Given the description of an element on the screen output the (x, y) to click on. 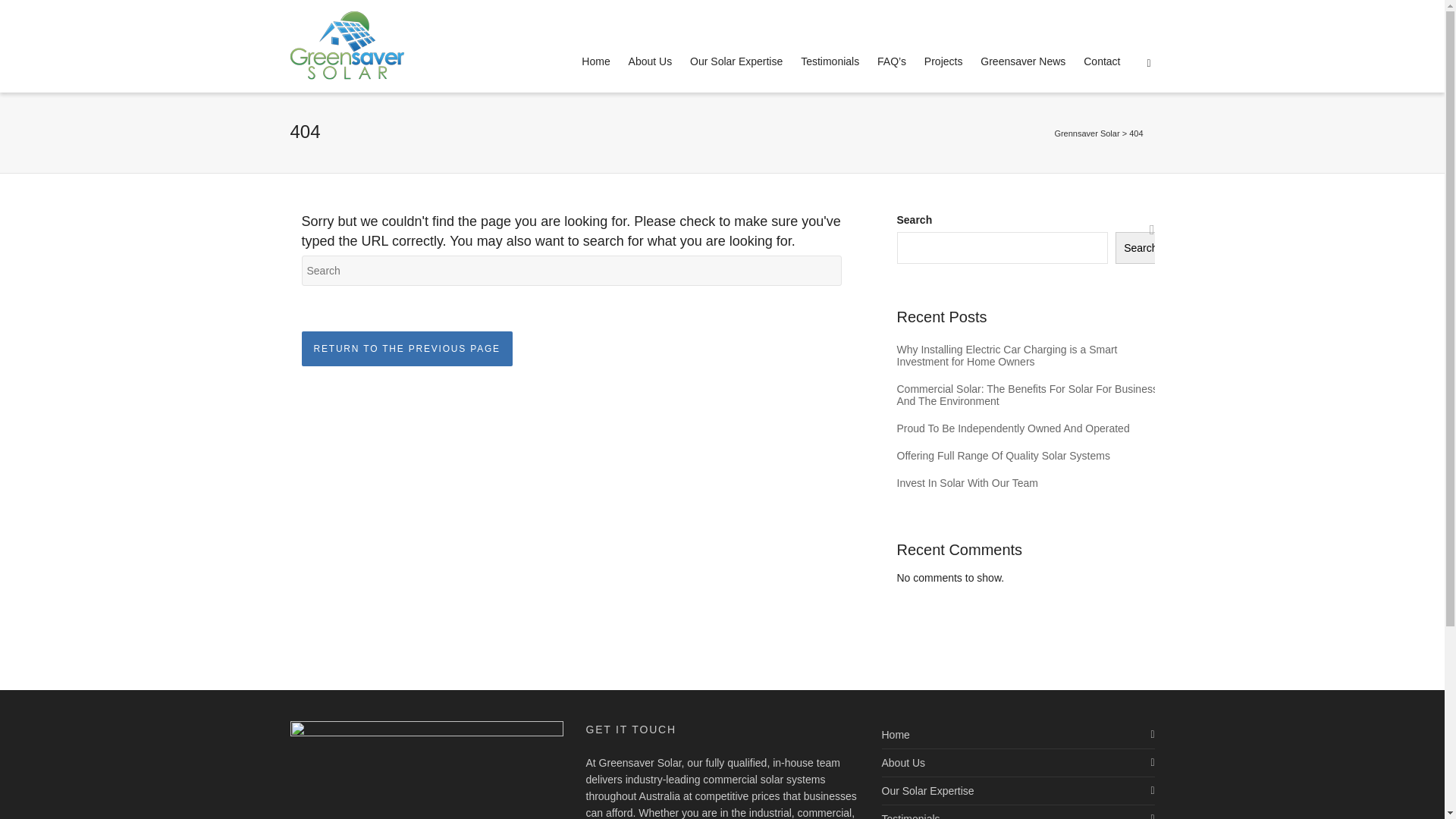
Invest In Solar With Our Team Element type: text (1030, 482)
Home Element type: text (595, 61)
Testimonials Element type: text (829, 61)
Home Element type: text (1017, 734)
Our Solar Expertise Element type: text (1017, 790)
Offering Full Range Of Quality Solar Systems Element type: text (1030, 455)
Search Element type: text (1140, 247)
RETURN TO THE PREVIOUS PAGE Element type: text (406, 348)
Proud To Be Independently Owned And Operated Element type: text (1030, 428)
Projects Element type: text (943, 61)
Our Solar Expertise Element type: text (736, 61)
Grennsaver Solar Element type: text (1086, 133)
About Us Element type: text (650, 61)
Contact Element type: text (1101, 61)
Greensaver News Element type: text (1022, 61)
About Us Element type: text (1017, 762)
404 Element type: text (1135, 133)
